Given the description of an element on the screen output the (x, y) to click on. 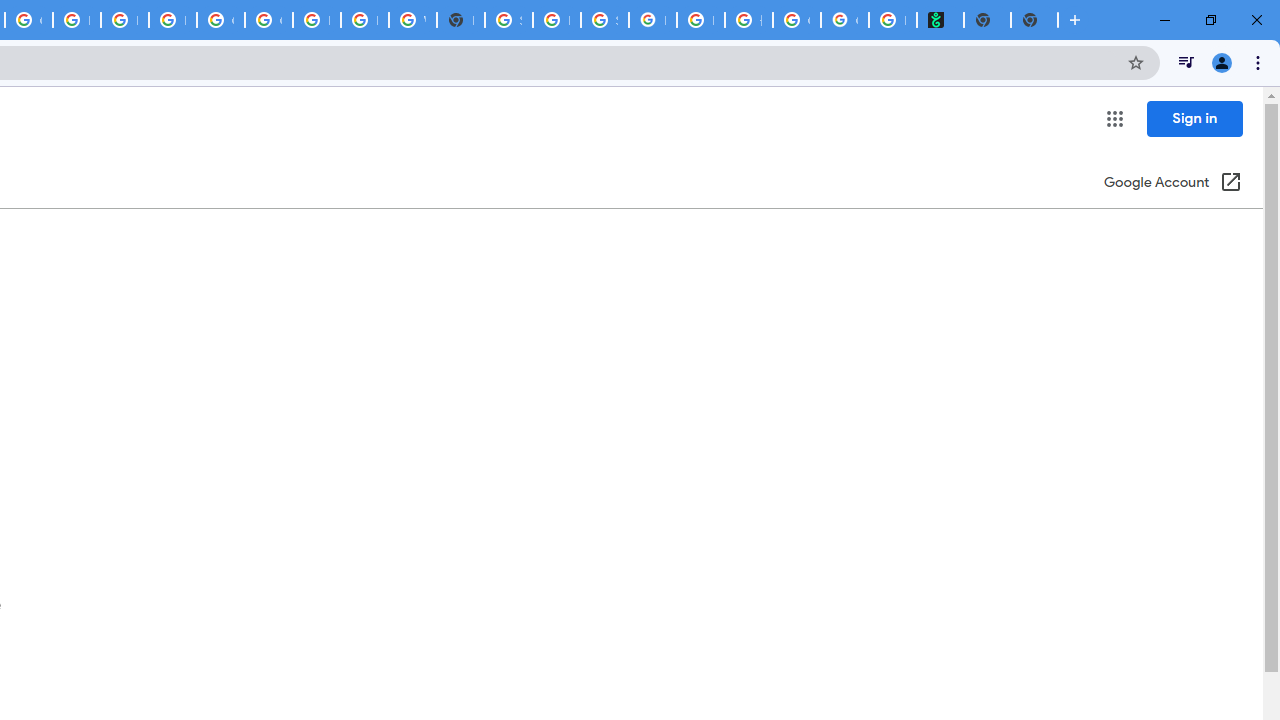
Google Account (Open in a new window) (1172, 183)
Sign in - Google Accounts (508, 20)
Browse Chrome as a guest - Computer - Google Chrome Help (124, 20)
Control your music, videos, and more (1185, 62)
New Tab (1034, 20)
Google apps (1114, 118)
Google Cloud Platform (268, 20)
New Tab (460, 20)
